Given the description of an element on the screen output the (x, y) to click on. 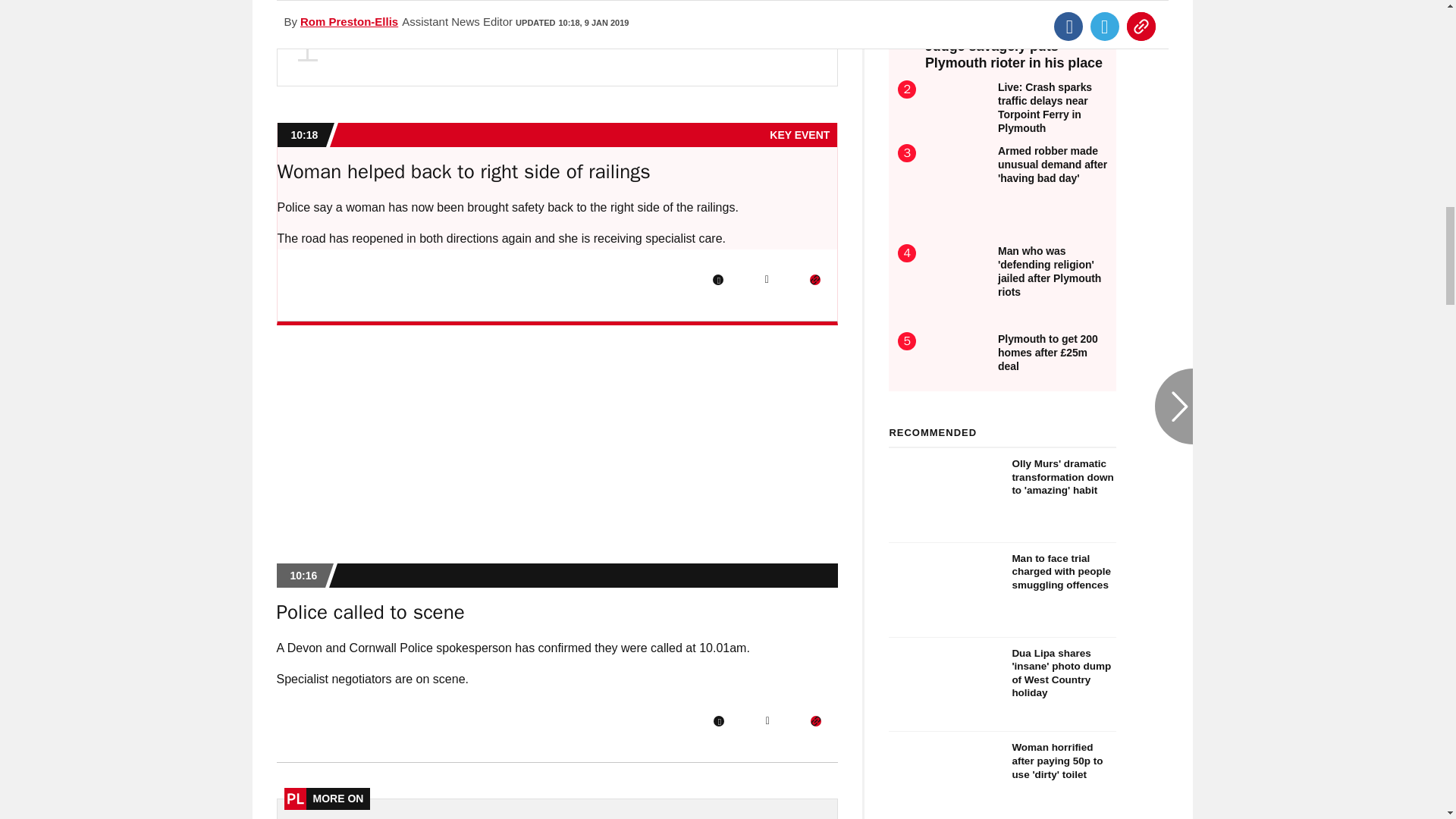
Twitter (766, 279)
Twitter (767, 720)
Facebook (718, 720)
Facebook (718, 279)
